Given the description of an element on the screen output the (x, y) to click on. 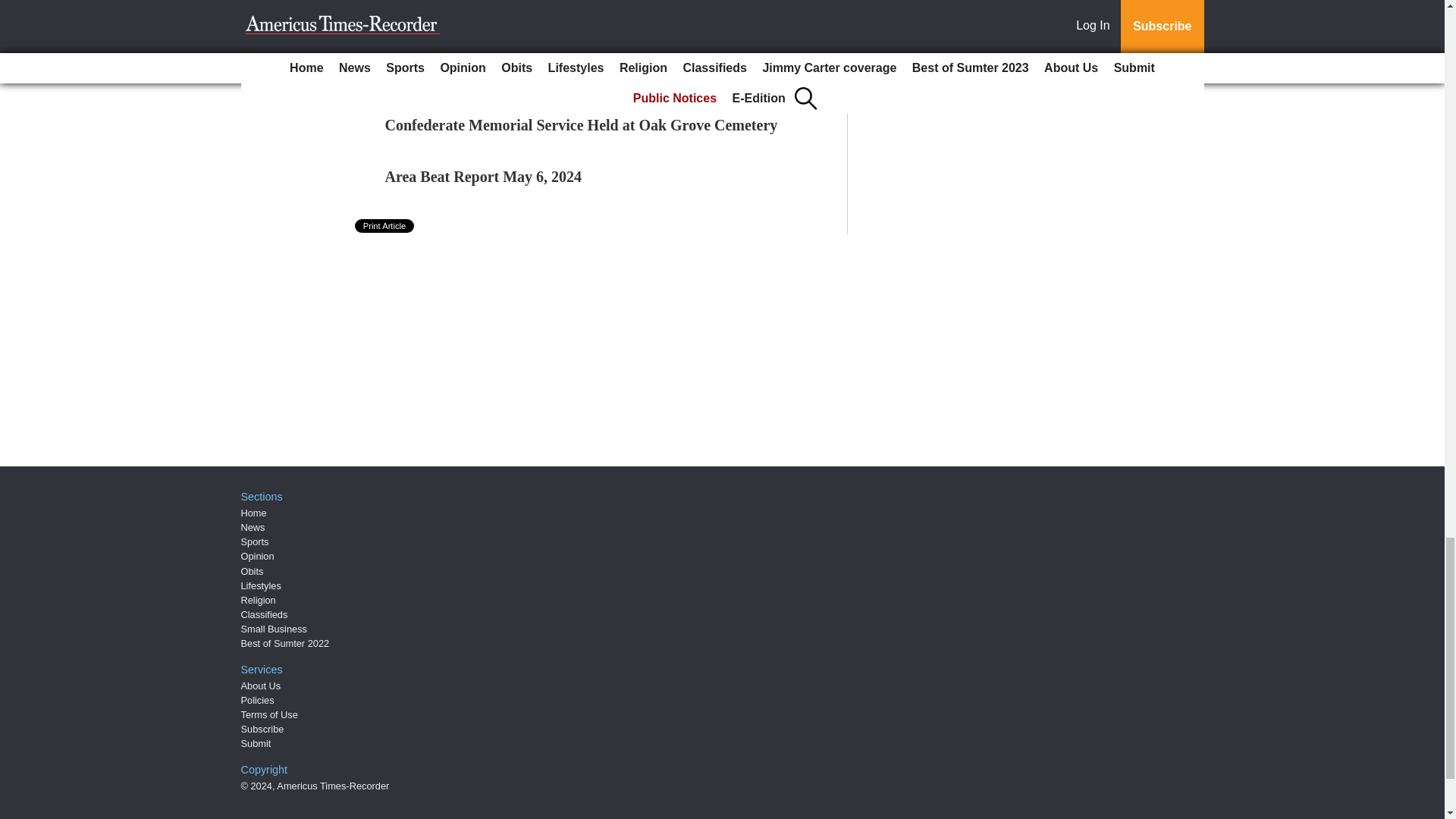
Obits (252, 571)
Small Business (274, 628)
Area Beat Report May 6, 2024 (483, 176)
Home (253, 512)
Classifieds (264, 614)
Confederate Memorial Service Held at Oak Grove Cemetery (581, 125)
Area Beat Report May 6, 2024 (483, 176)
Area Beat Report June 4, 2024 (484, 21)
Religion (258, 600)
Area Beat Report May 31 through June 3, 2024 (538, 73)
Best of Sumter 2022 (285, 643)
Area Beat Report May 31 through June 3, 2024 (538, 73)
Area Beat Report June 4, 2024 (484, 21)
Policies (258, 699)
Lifestyles (261, 585)
